Given the description of an element on the screen output the (x, y) to click on. 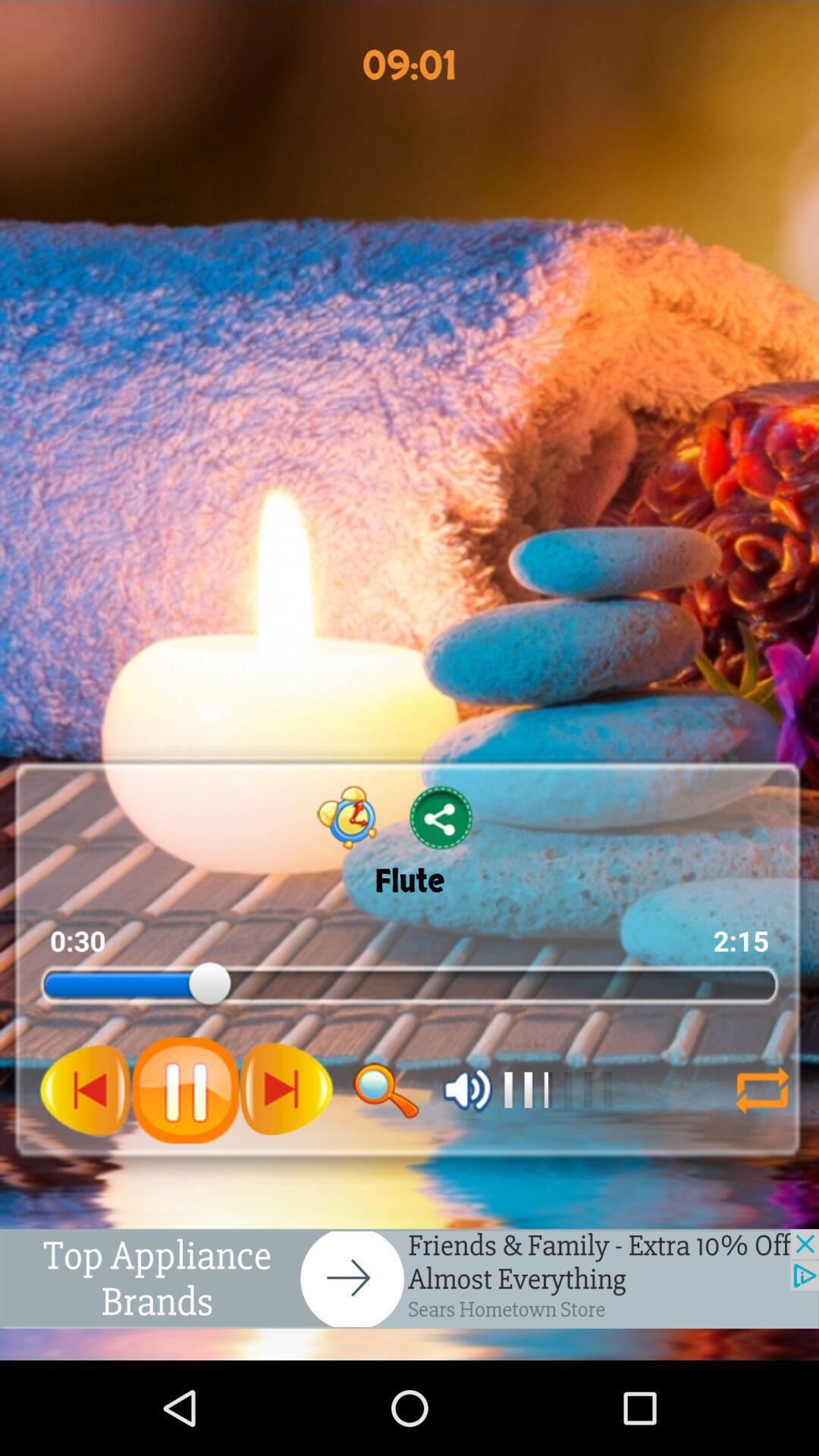
go to valeam option (467, 1089)
